Given the description of an element on the screen output the (x, y) to click on. 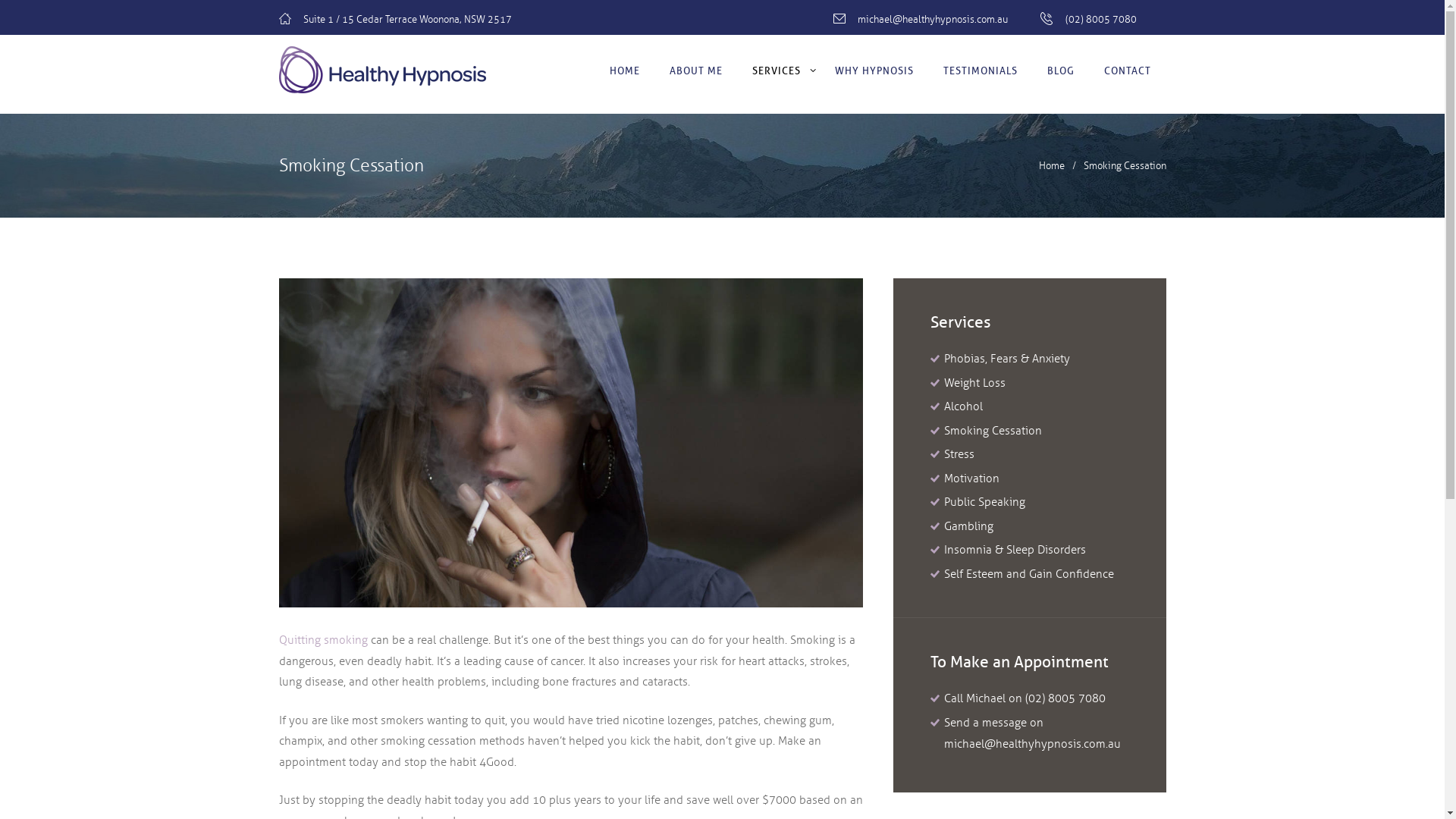
Send a message on michael@healthyhypnosis.com.au Element type: text (1032, 732)
Alcohol Element type: text (963, 406)
WHY HYPNOSIS Element type: text (874, 70)
Phobias, Fears & Anxiety Element type: text (1007, 358)
BLOG Element type: text (1060, 70)
Weight Loss Element type: text (974, 382)
Insomnia & Sleep Disorders Element type: text (1014, 549)
TESTIMONIALS Element type: text (980, 70)
Public Speaking Element type: text (984, 501)
Motivation Element type: text (971, 478)
CONTACT Element type: text (1127, 70)
Self Esteem and Gain Confidence Element type: text (1028, 573)
Home Element type: text (1051, 165)
(02) 8005 7080 Element type: text (1100, 19)
michael@healthyhypnosis.com.au Element type: text (932, 19)
Smoking Cessation Element type: hover (570, 442)
Gambling Element type: text (968, 526)
Smoking Cessation Element type: text (992, 430)
ABOUT ME Element type: text (695, 70)
Call Michael on (02) 8005 7080 Element type: text (1024, 698)
HOME Element type: text (624, 70)
Stress Element type: text (959, 454)
Quitting smoking Element type: text (323, 639)
SERVICES Element type: text (778, 70)
